Given the description of an element on the screen output the (x, y) to click on. 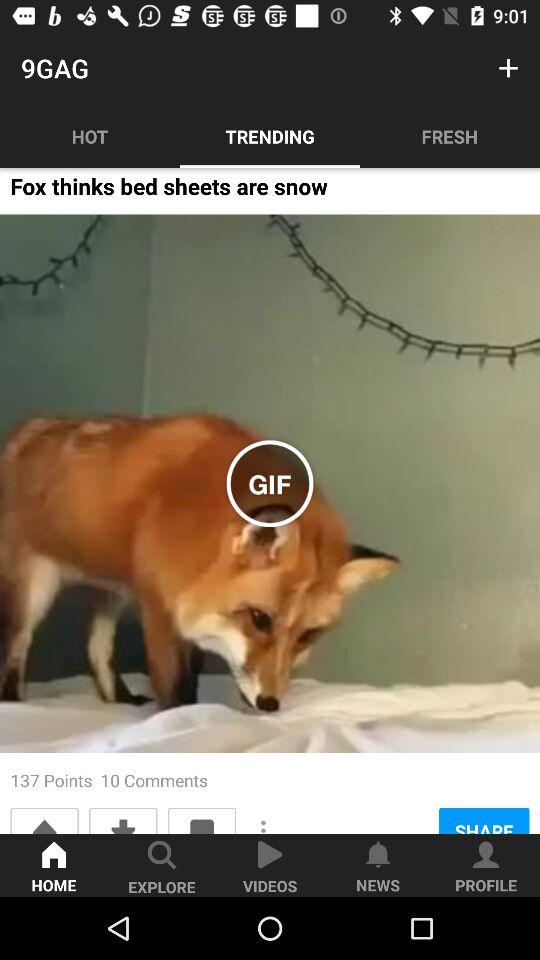
select fox thinks bed item (168, 192)
